Given the description of an element on the screen output the (x, y) to click on. 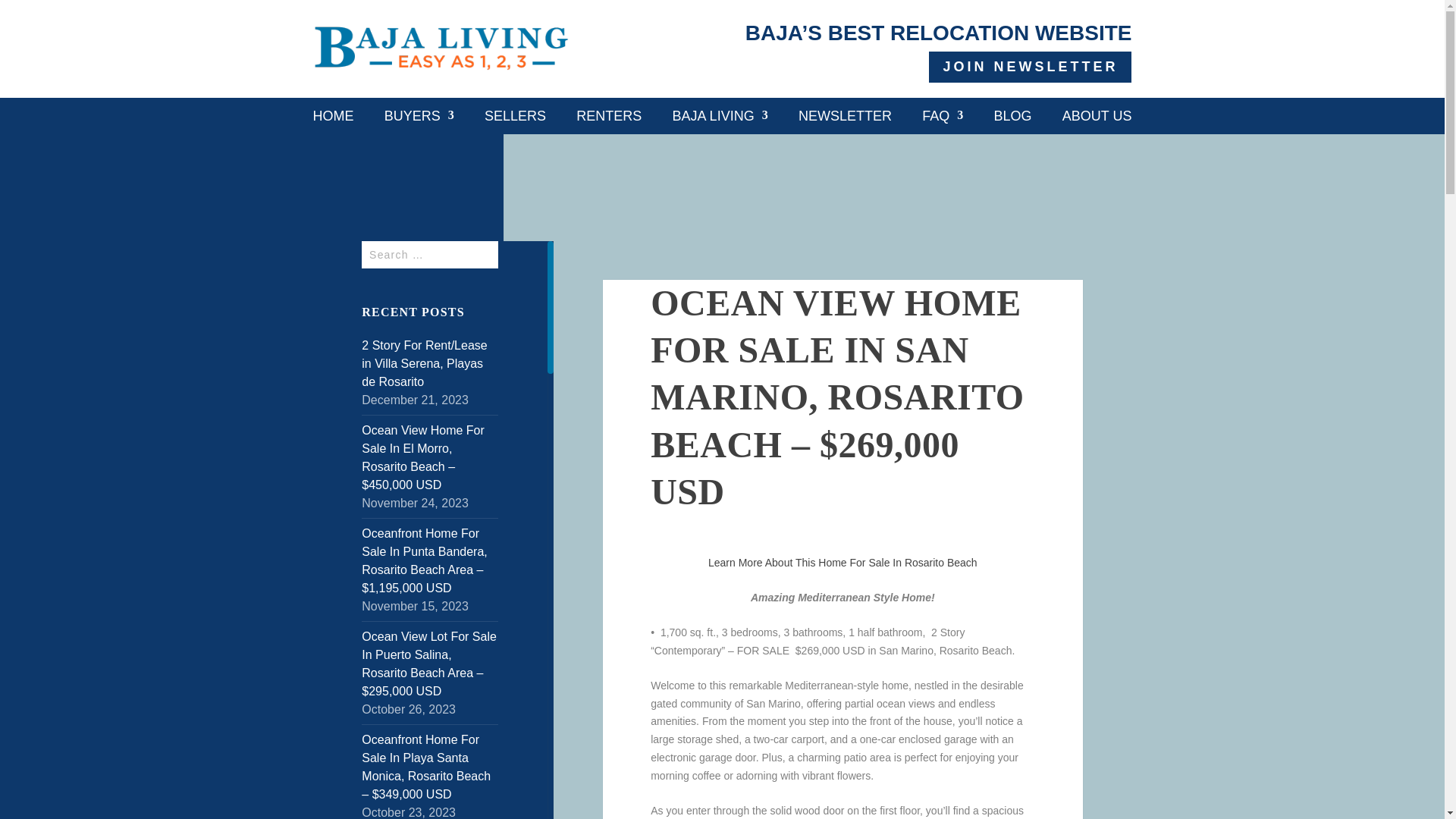
HOME (333, 115)
JOIN NEWSLETTER (1029, 66)
Baja Living Logo (441, 49)
BUYERS (419, 115)
